Given the description of an element on the screen output the (x, y) to click on. 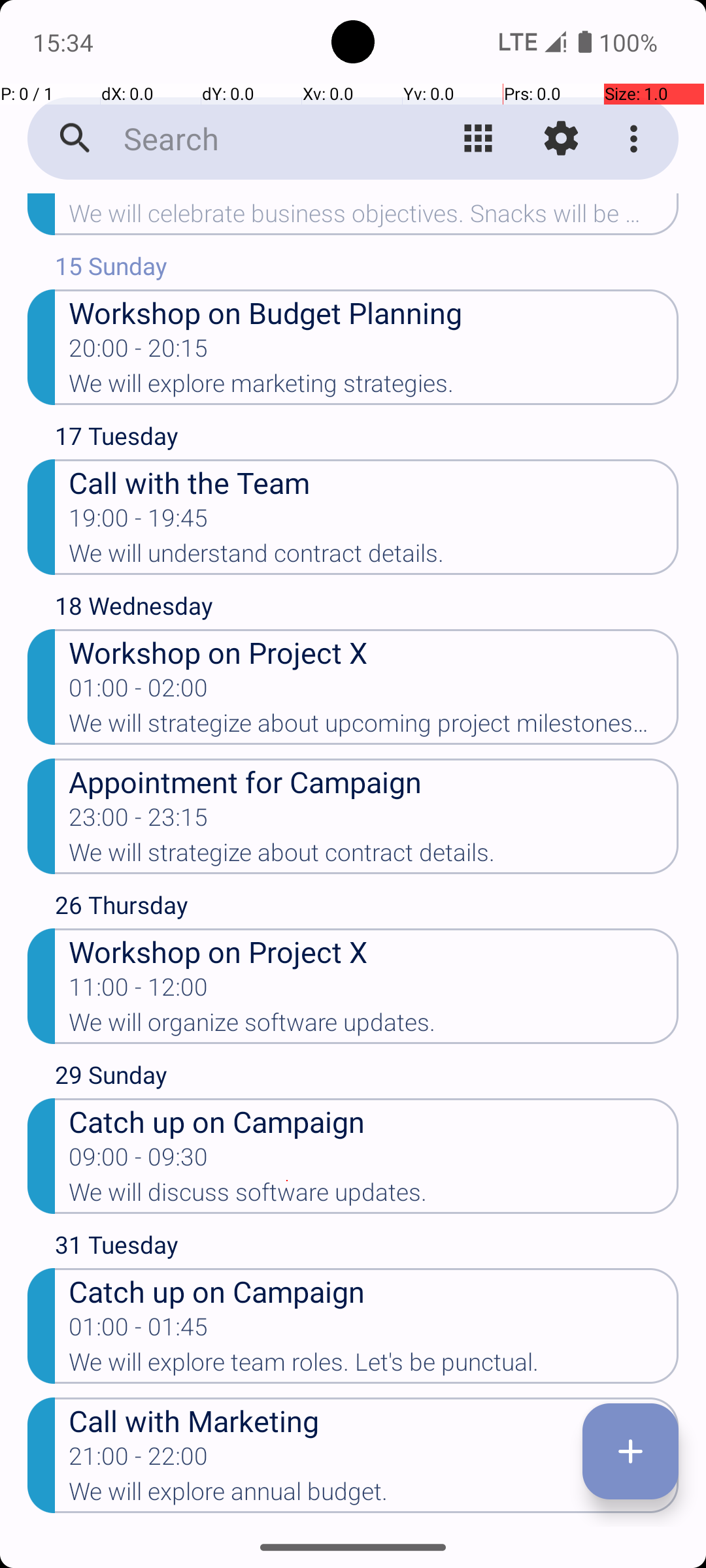
26 Thursday Element type: android.widget.TextView (366, 907)
29 Sunday Element type: android.widget.TextView (366, 1077)
31 Tuesday Element type: android.widget.TextView (366, 1247)
15:00 - 15:45 Element type: android.widget.TextView (137, 196)
We will celebrate business objectives. Snacks will be provided. Element type: android.widget.TextView (373, 217)
Workshop on Budget Planning Element type: android.widget.TextView (373, 311)
20:00 - 20:15 Element type: android.widget.TextView (137, 351)
We will explore marketing strategies. Element type: android.widget.TextView (373, 387)
Call with the Team Element type: android.widget.TextView (373, 481)
19:00 - 19:45 Element type: android.widget.TextView (137, 521)
We will understand contract details. Element type: android.widget.TextView (373, 556)
Workshop on Project X Element type: android.widget.TextView (373, 651)
01:00 - 02:00 Element type: android.widget.TextView (137, 691)
We will strategize about upcoming project milestones. Looking forward to productive discussions. Element type: android.widget.TextView (373, 726)
23:00 - 23:15 Element type: android.widget.TextView (137, 820)
We will strategize about contract details. Element type: android.widget.TextView (373, 856)
11:00 - 12:00 Element type: android.widget.TextView (137, 990)
We will organize software updates. Element type: android.widget.TextView (373, 1026)
09:00 - 09:30 Element type: android.widget.TextView (137, 1160)
We will discuss software updates. Element type: android.widget.TextView (373, 1195)
01:00 - 01:45 Element type: android.widget.TextView (137, 1330)
We will explore team roles. Let's be punctual. Element type: android.widget.TextView (373, 1365)
Call with Marketing Element type: android.widget.TextView (373, 1419)
21:00 - 22:00 Element type: android.widget.TextView (137, 1459)
We will explore annual budget. Element type: android.widget.TextView (373, 1495)
